Given the description of an element on the screen output the (x, y) to click on. 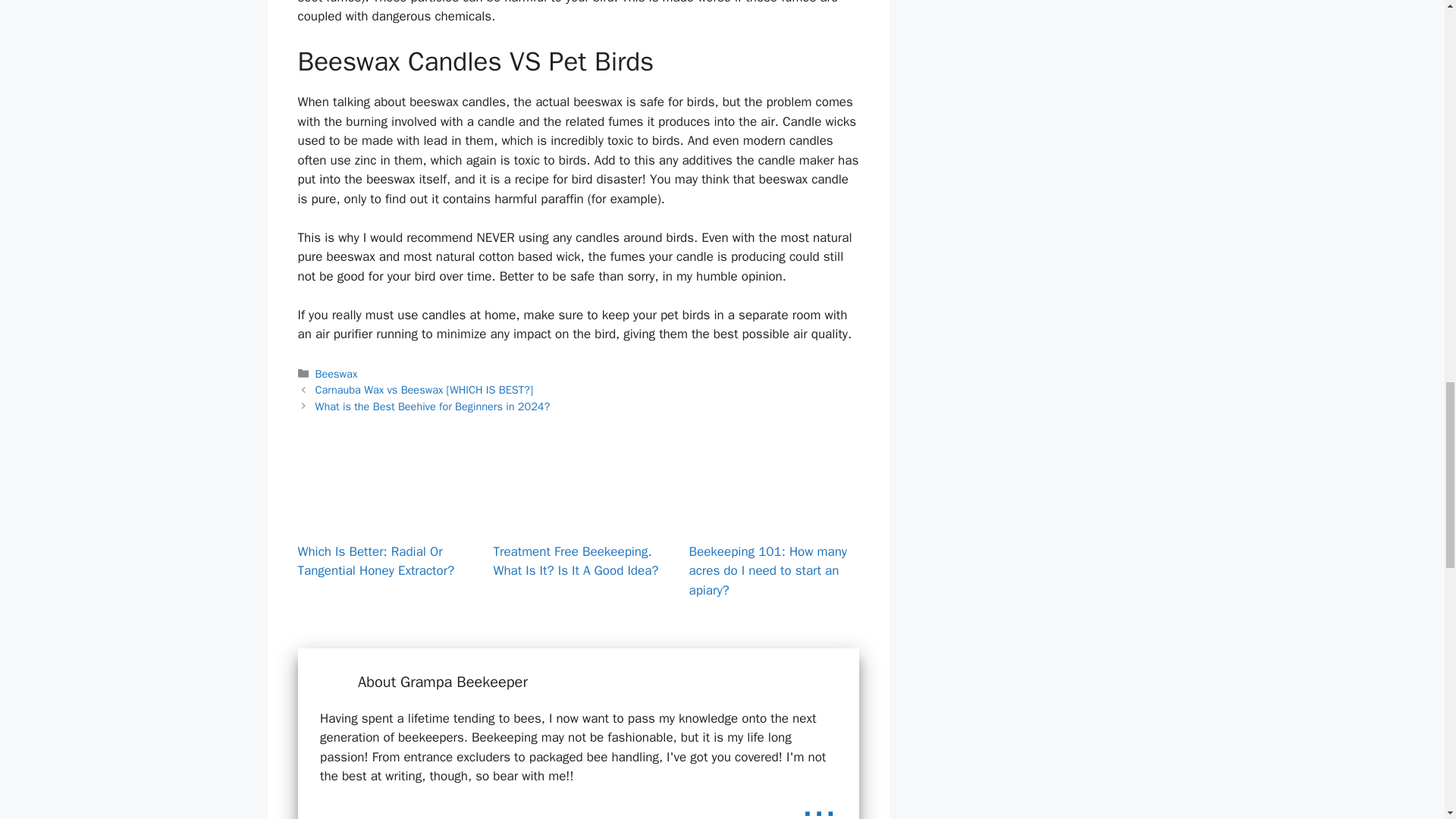
Which Is Better: Radial Or Tangential Honey Extractor? (382, 519)
Which Is Better: Radial Or Tangential Honey Extractor? (375, 561)
Beekeeping 101: How many acres do I need to start an apiary? (773, 519)
... (818, 803)
Read more (818, 803)
Beeswax (336, 373)
What is the Best Beehive for Beginners in 2024? (432, 406)
Treatment Free Beekeeping. What Is It? Is It A Good Idea? (575, 561)
Treatment Free Beekeeping. What Is It? Is It A Good Idea? (577, 519)
Beekeeping 101: How many acres do I need to start an apiary? (767, 570)
